Given the description of an element on the screen output the (x, y) to click on. 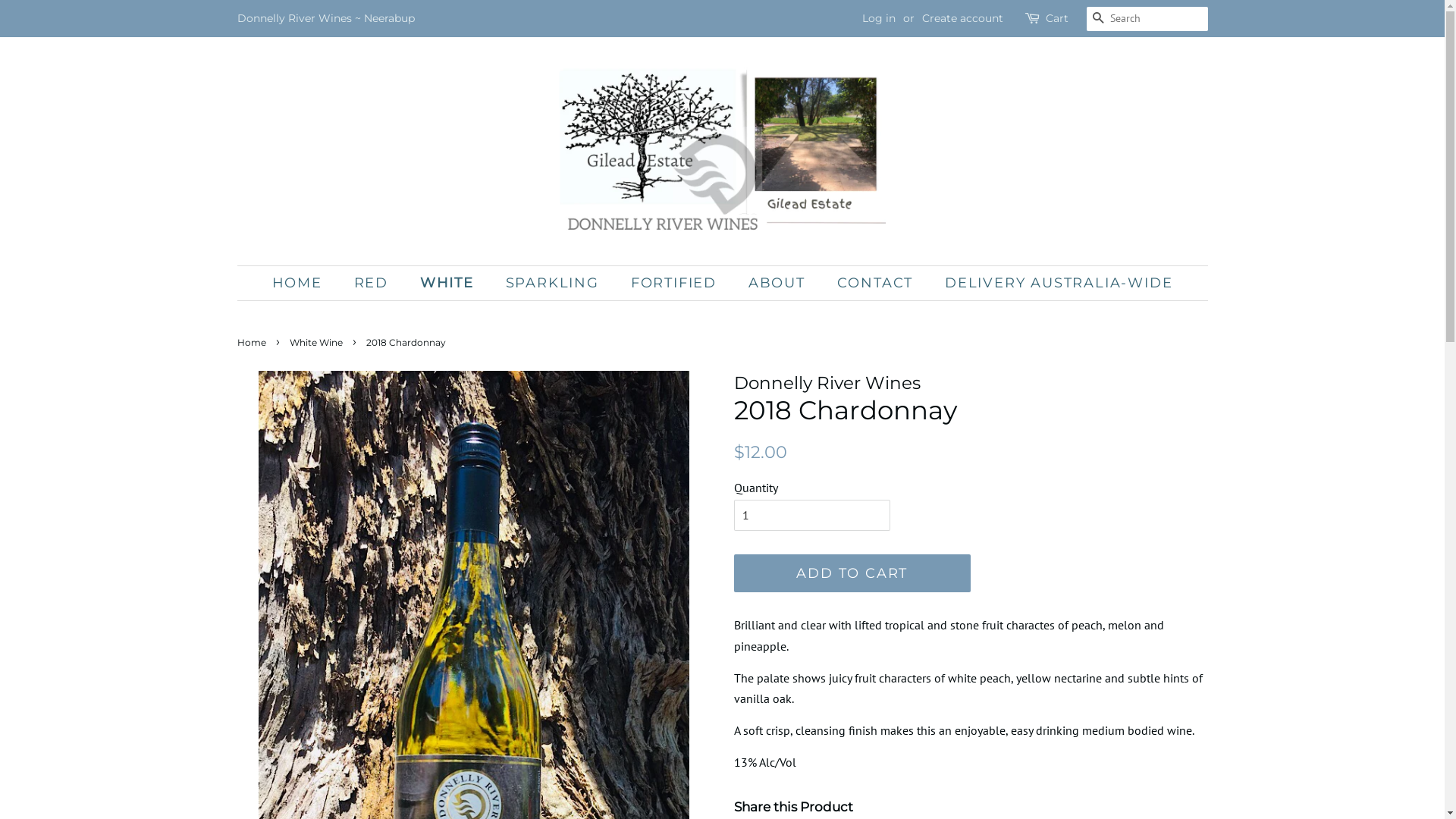
Log in Element type: text (877, 18)
WHITE Element type: text (448, 283)
White Wine Element type: text (317, 342)
Home Element type: text (252, 342)
ADD TO CART Element type: text (852, 573)
Cart Element type: text (1055, 18)
RED Element type: text (372, 283)
CONTACT Element type: text (876, 283)
Create account Element type: text (962, 18)
DELIVERY AUSTRALIA-WIDE Element type: text (1052, 283)
HOME Element type: text (304, 283)
ABOUT Element type: text (778, 283)
FORTIFIED Element type: text (675, 283)
SEARCH Element type: text (1097, 18)
SPARKLING Element type: text (554, 283)
